Given the description of an element on the screen output the (x, y) to click on. 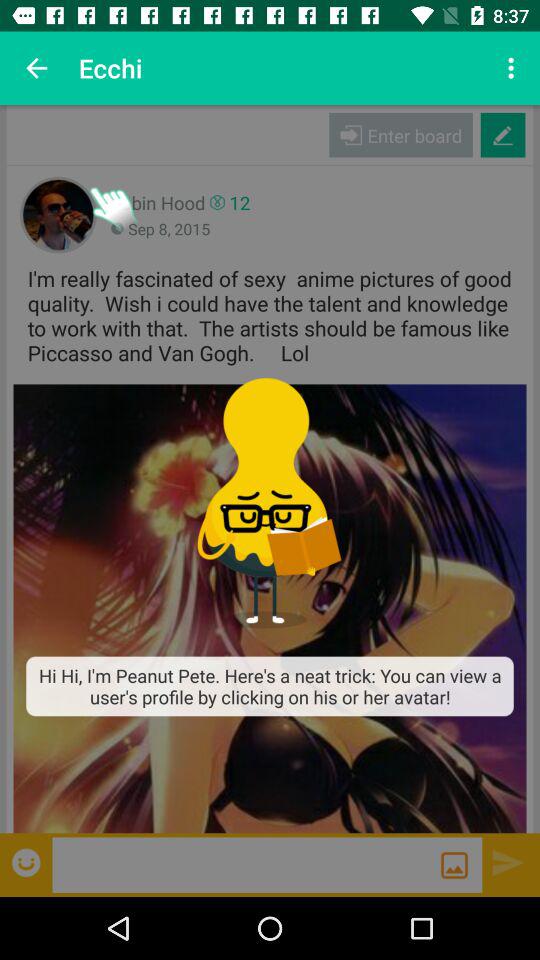
press app next to the ecchi  icon (513, 67)
